Given the description of an element on the screen output the (x, y) to click on. 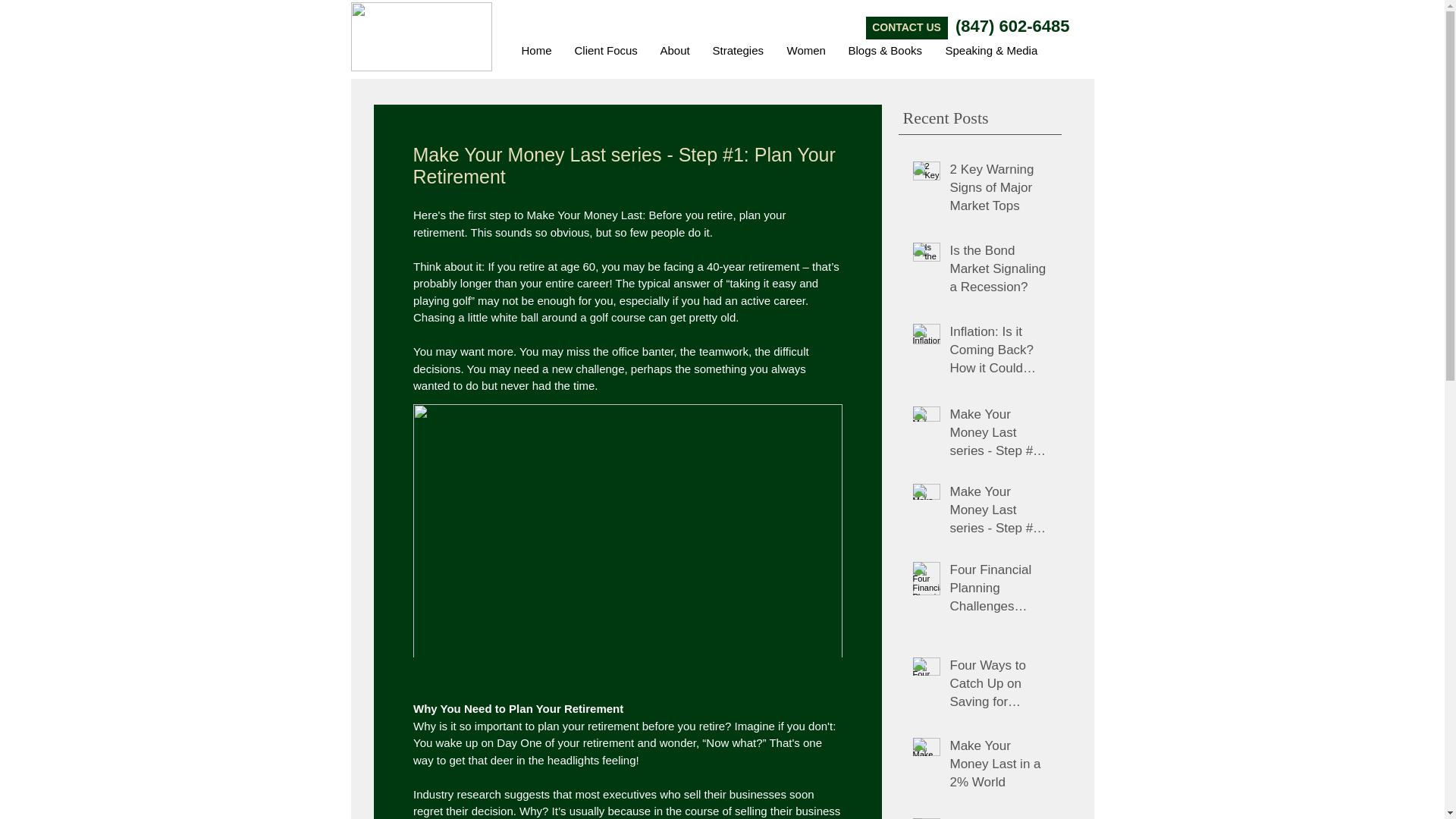
Four Financial Planning Challenges Faced by Divorced Women (1000, 590)
2 Key Warning Signs of Major Market Tops (1000, 190)
Women (804, 50)
Client Focus (604, 50)
About (675, 50)
Inflation: Is it Coming Back? How it Could Impact You (1000, 352)
Is the Bond Market Signaling a Recession? (1000, 271)
Four Ways to Catch Up on Saving for Retirement (1000, 686)
Strategies (737, 50)
Home (535, 50)
